Given the description of an element on the screen output the (x, y) to click on. 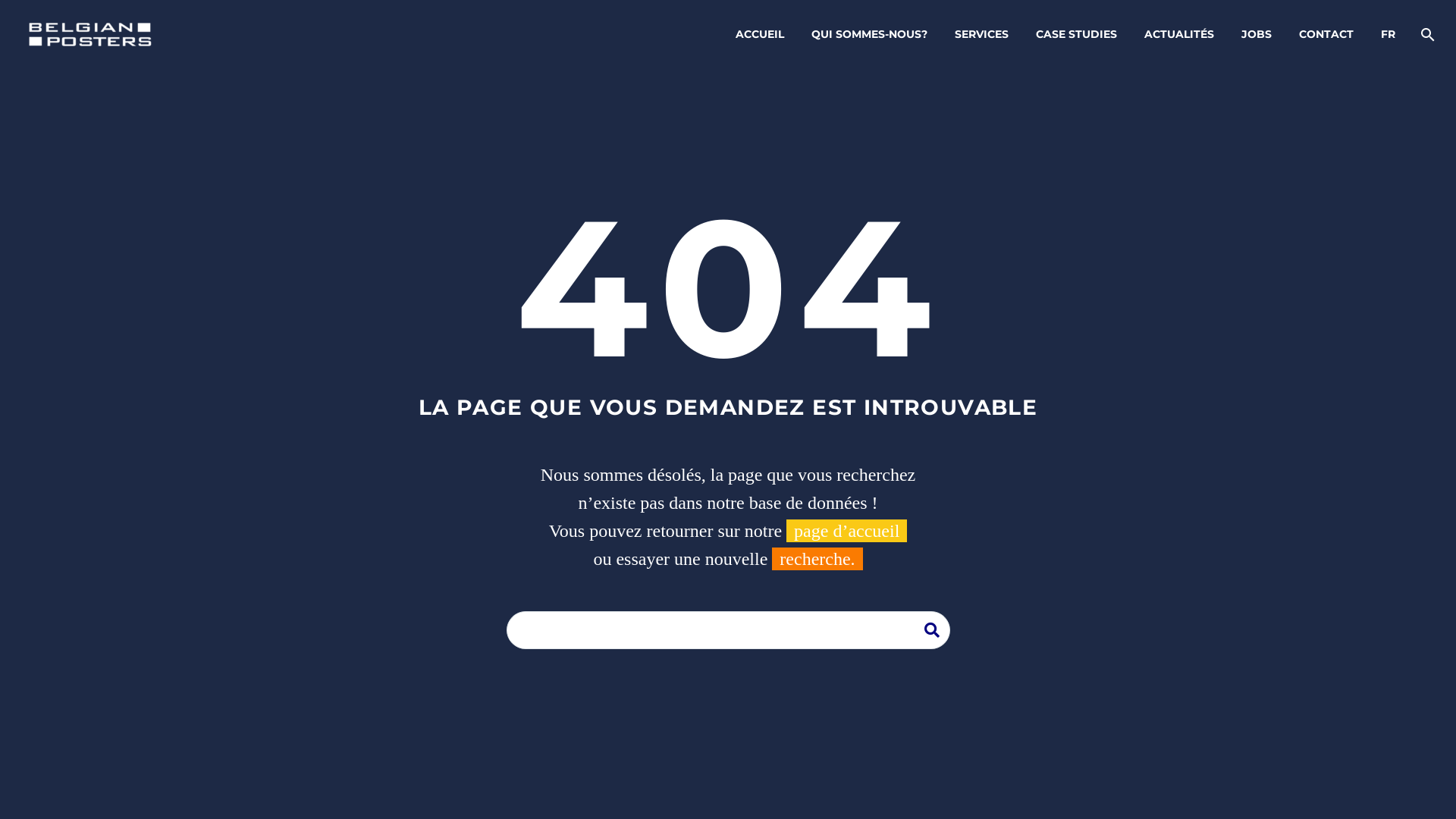
JOBS Element type: text (1256, 34)
SERVICES Element type: text (981, 34)
FR Element type: text (1387, 34)
recherche. Element type: text (816, 558)
CONTACT Element type: text (1326, 34)
QUI SOMMES-NOUS? Element type: text (869, 34)
CASE STUDIES Element type: text (1076, 34)
ACCUEIL Element type: text (759, 34)
